Given the description of an element on the screen output the (x, y) to click on. 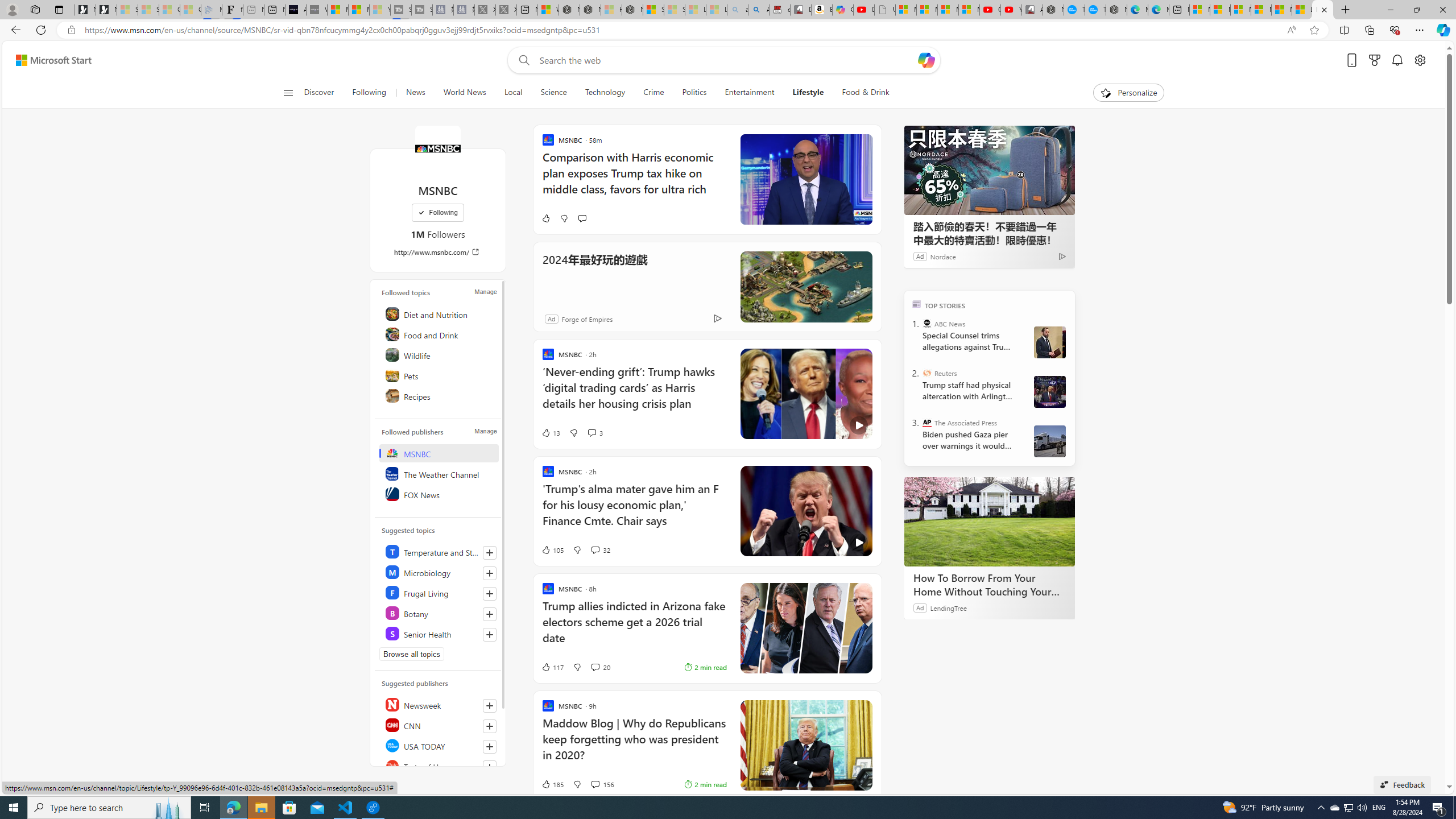
View comments 20 Comment (594, 666)
FOX News (439, 493)
Follow this source (489, 767)
